Given the description of an element on the screen output the (x, y) to click on. 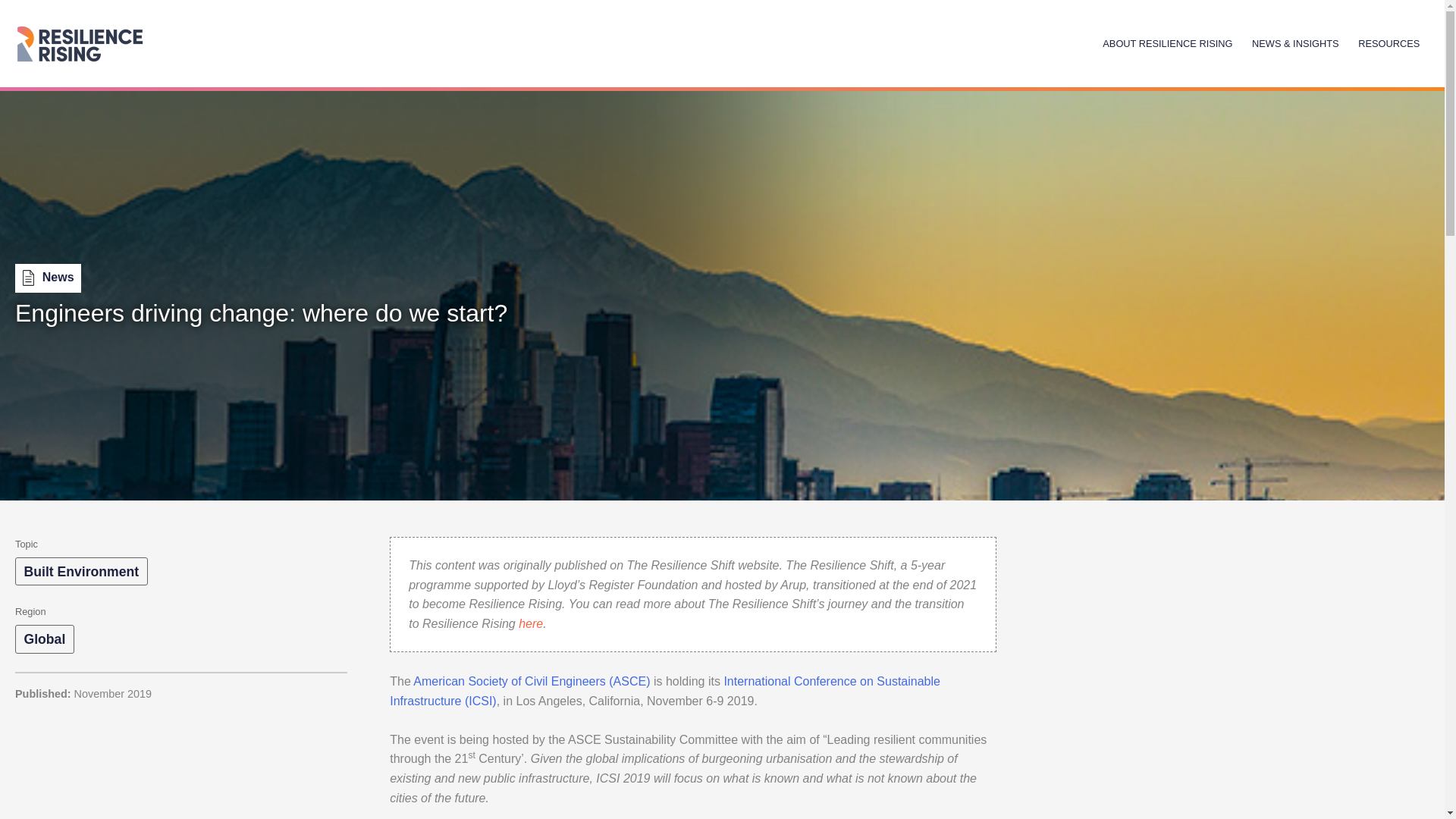
here (530, 623)
Global (44, 638)
News (47, 277)
Built Environment (81, 571)
RESOURCES (1388, 42)
ABOUT RESILIENCE RISING (1168, 42)
